Given the description of an element on the screen output the (x, y) to click on. 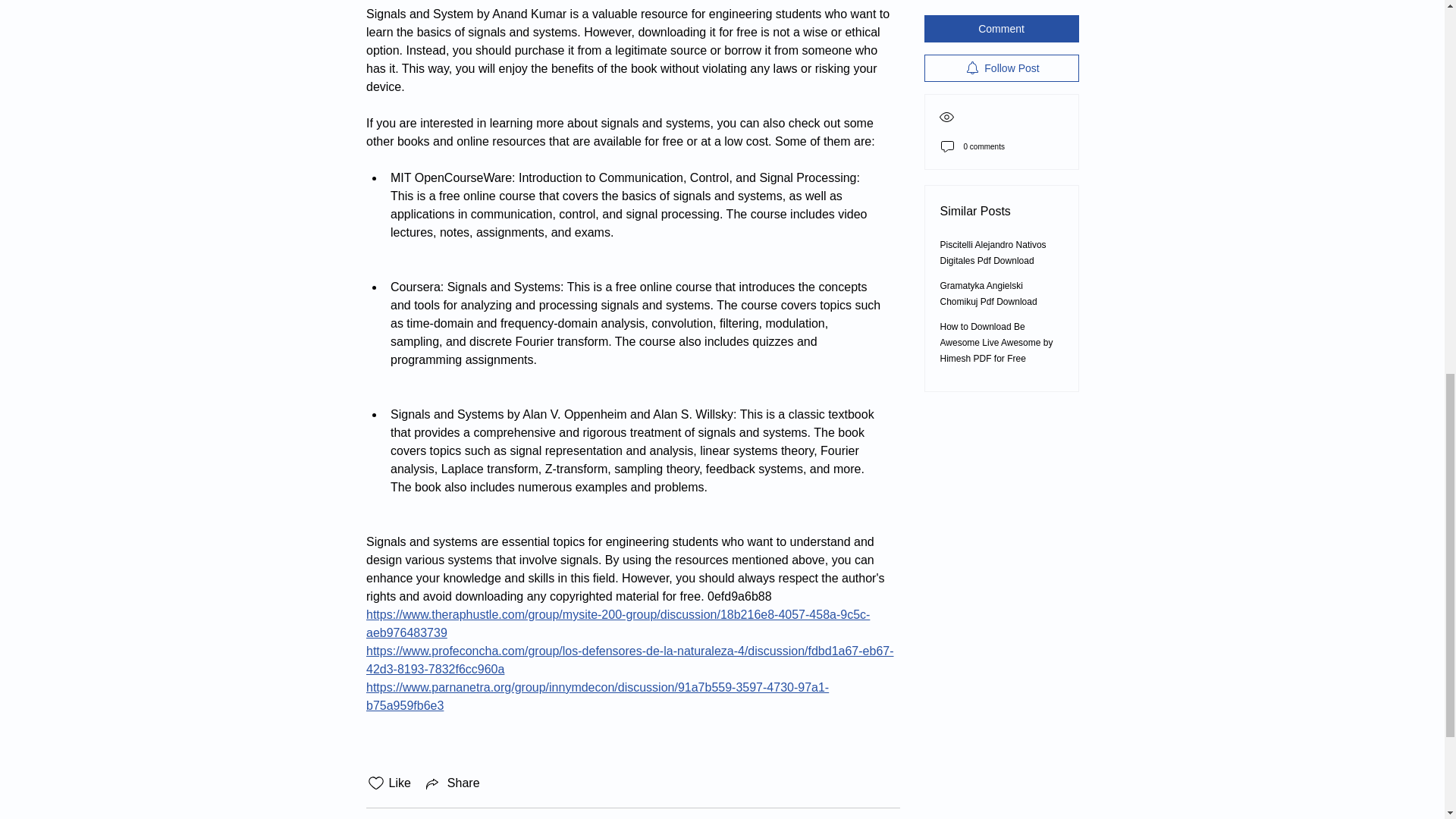
Share (451, 782)
